Given the description of an element on the screen output the (x, y) to click on. 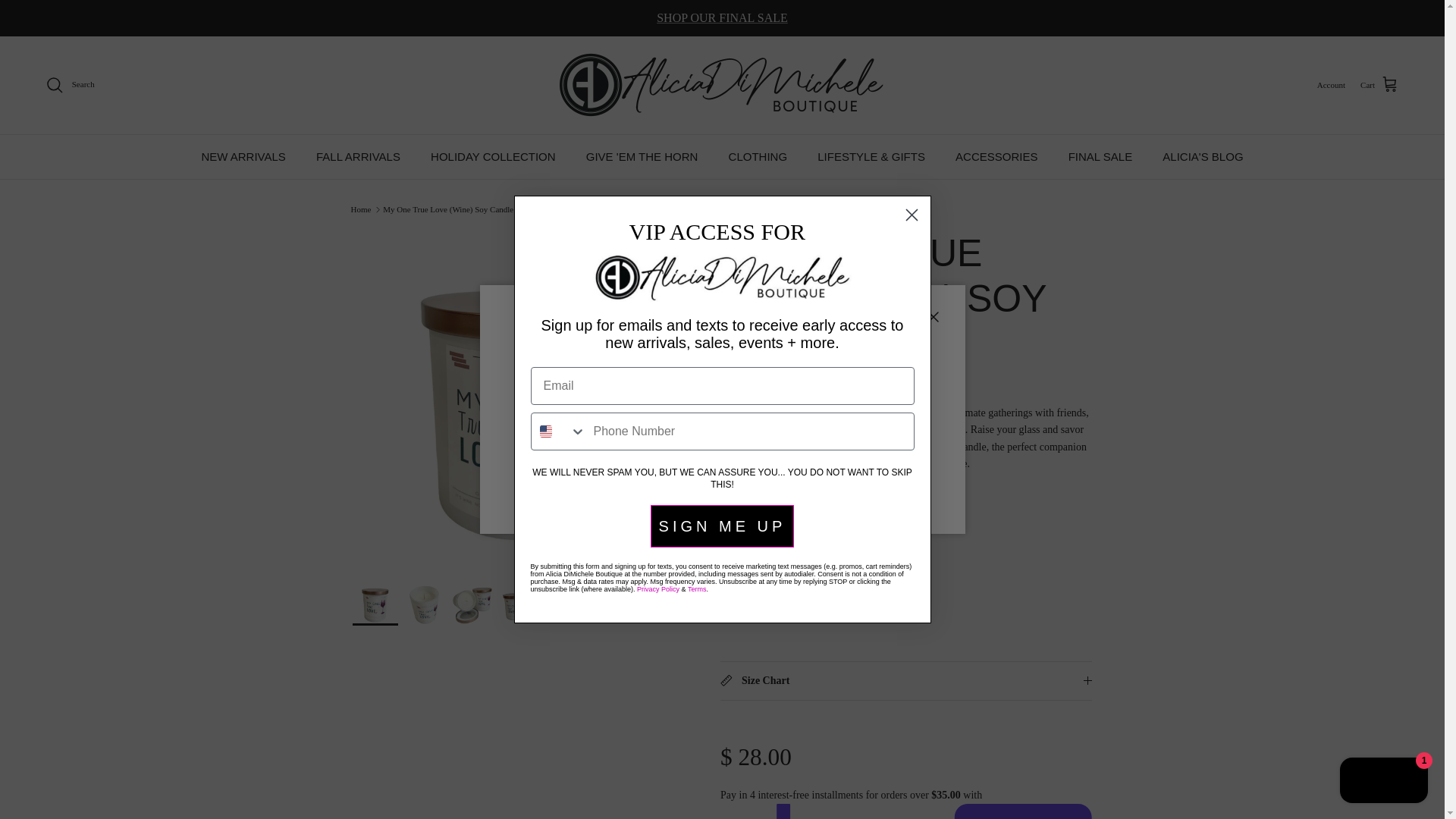
HOLIDAY COLLECTION (492, 157)
Alicia DiMichele Boutique (721, 84)
Final Sale (721, 17)
NEW ARRIVALS (242, 157)
Cart (1379, 85)
Shopify online store chat (1383, 781)
SHOP OUR FINAL SALE (721, 17)
FALL ARRIVALS (357, 157)
CLOTHING (758, 157)
Close dialog 1 (911, 214)
United States (545, 431)
GIVE 'EM THE HORN (641, 157)
Account (1331, 85)
Search (69, 85)
